Given the description of an element on the screen output the (x, y) to click on. 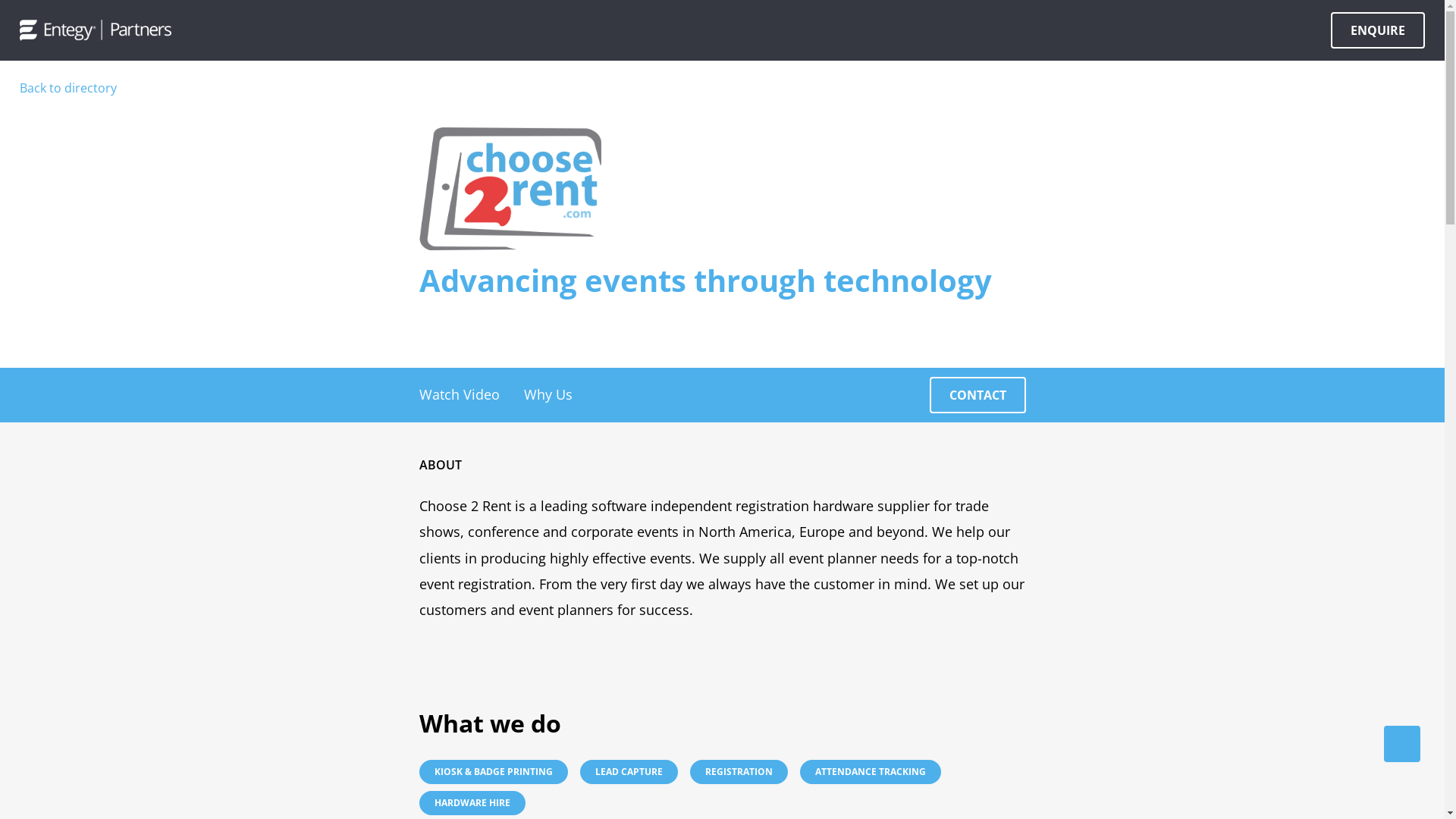
ENQUIRE Element type: text (1377, 30)
Untitled-1 Element type: hover (509, 188)
Back to directory Element type: text (67, 88)
CONTACT Element type: text (977, 394)
Watch Video Element type: text (458, 394)
Partner Directory logo Element type: hover (95, 29)
Why Us Element type: text (547, 394)
